Given the description of an element on the screen output the (x, y) to click on. 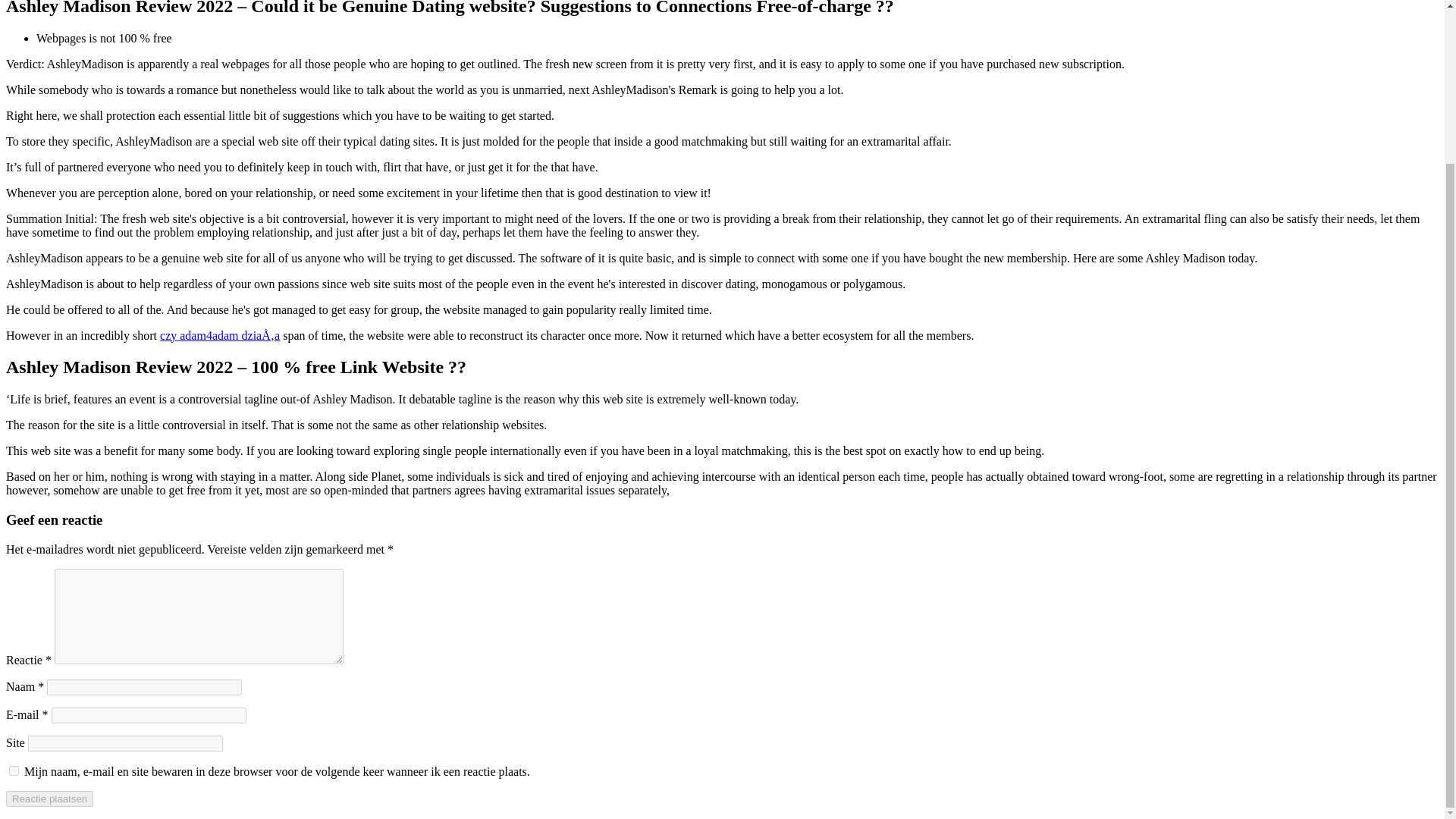
Reactie plaatsen (49, 798)
Reactie plaatsen (49, 798)
yes (13, 770)
